Given the description of an element on the screen output the (x, y) to click on. 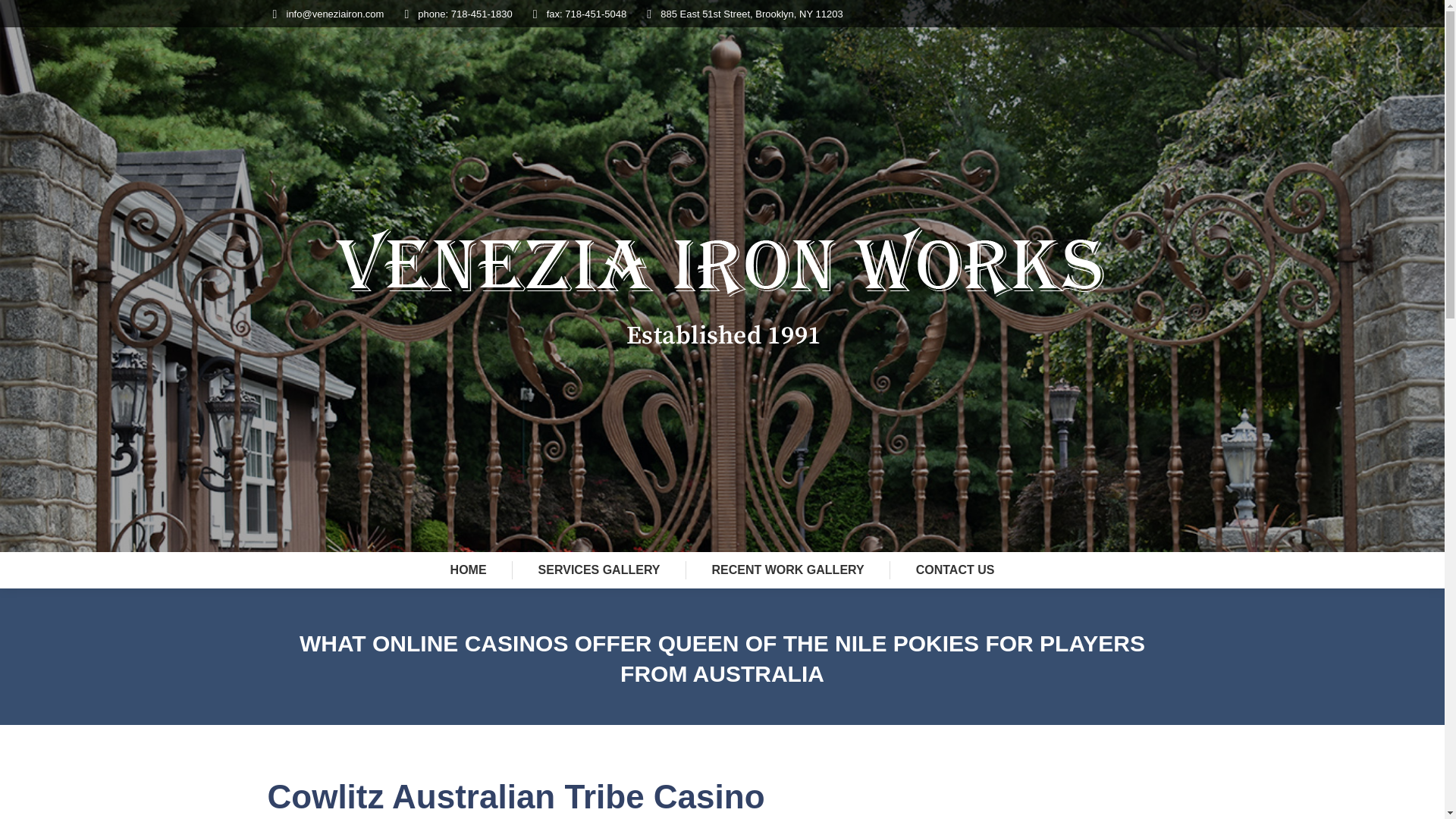
SERVICES GALLERY (599, 569)
RECENT WORK GALLERY (788, 569)
HOME (467, 569)
CONTACT US (954, 569)
